Given the description of an element on the screen output the (x, y) to click on. 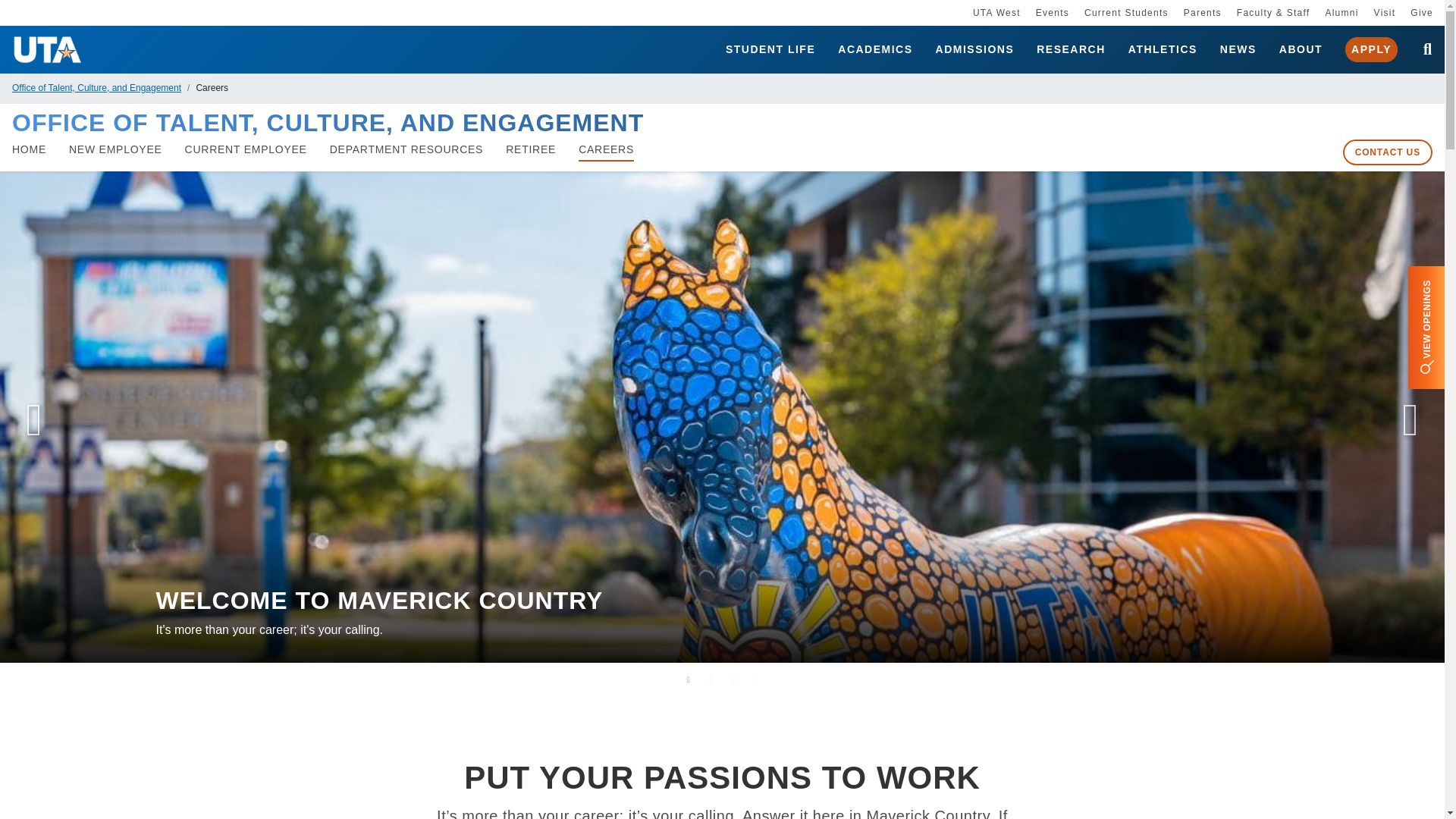
U T A West (996, 12)
STUDENT LIFE (770, 49)
Alumni (1341, 12)
Alumni (1341, 12)
Parents (1202, 12)
Events (1051, 12)
Events (1051, 12)
UTA West (996, 12)
Current Students (1126, 12)
Current Students (1126, 12)
